Given the description of an element on the screen output the (x, y) to click on. 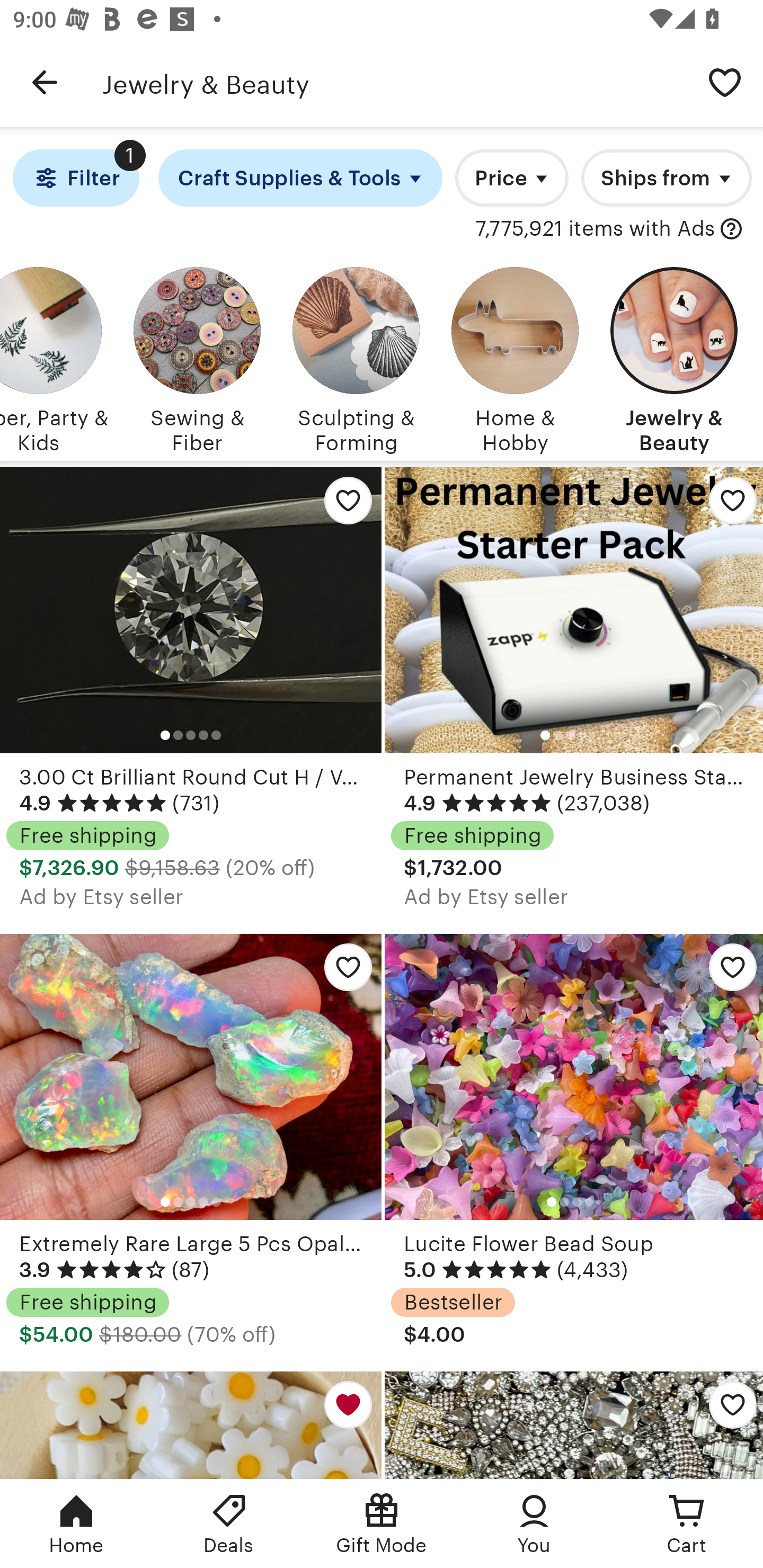
Navigate up (44, 82)
Save search (724, 81)
Jewelry & Beauty (393, 82)
Filter (75, 177)
Craft Supplies & Tools (300, 177)
Price (511, 177)
Ships from (666, 177)
7,775,921 items with Ads (595, 228)
with Ads (730, 228)
Paper, Party & Kids (54, 357)
Sewing & Fiber (197, 357)
Sculpting & Forming (355, 357)
Home & Hobby (514, 357)
Jewelry & Beauty (673, 357)
Add Lucite Flower Bead Soup to favorites (726, 971)
Deals (228, 1523)
Gift Mode (381, 1523)
You (533, 1523)
Cart (686, 1523)
